Given the description of an element on the screen output the (x, y) to click on. 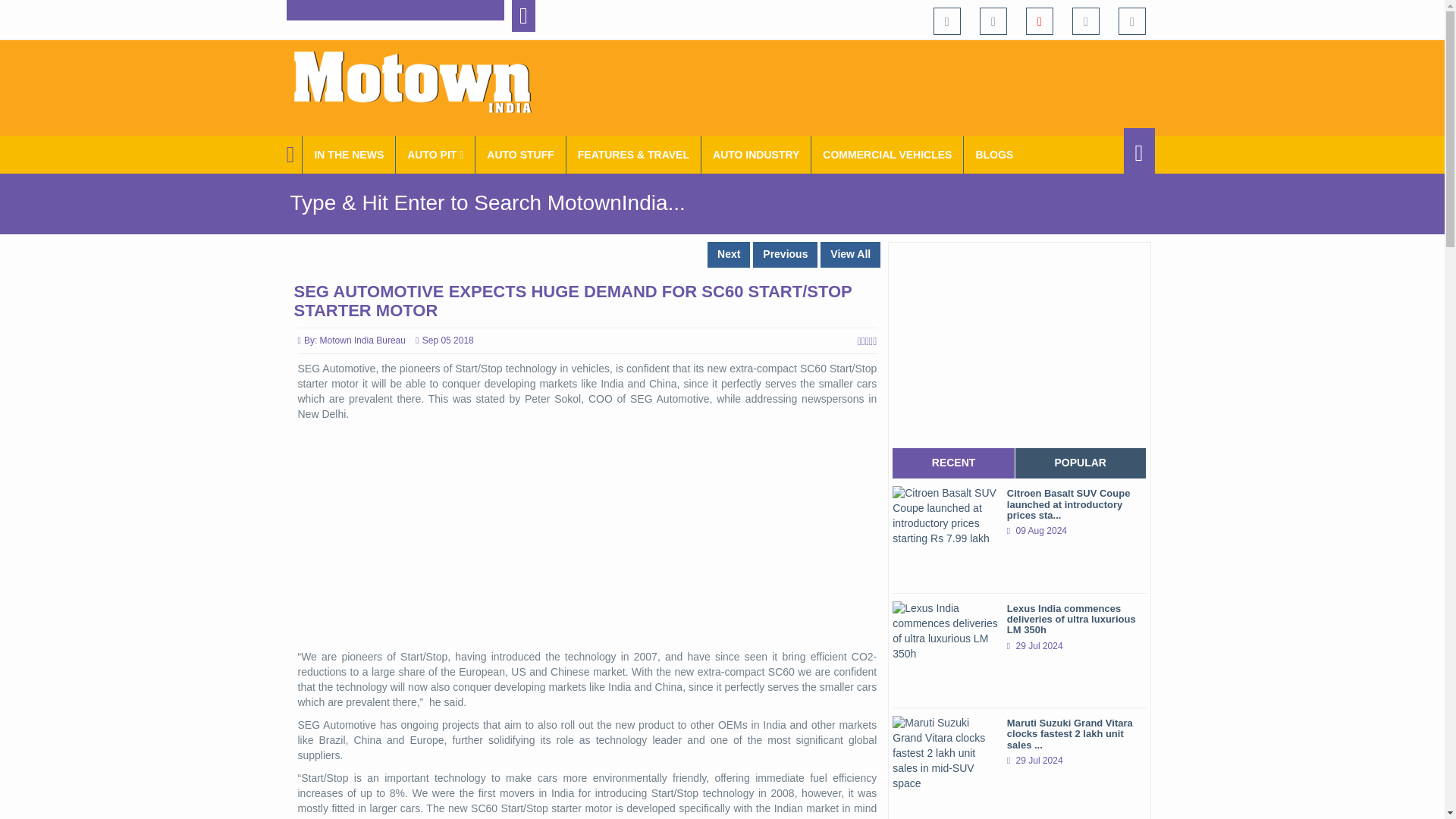
AUTO STUFF (521, 154)
View All In The News - Motown India (349, 154)
View All (850, 254)
Motown India on Twitter (993, 21)
Motown India on Facebook (946, 21)
IN THE NEWS (349, 154)
Motown India on LinkedIn (1133, 21)
View All Auto-Pit - Motown India (436, 154)
AUTO INDUSTRY (755, 154)
MotownIndia (421, 81)
